Given the description of an element on the screen output the (x, y) to click on. 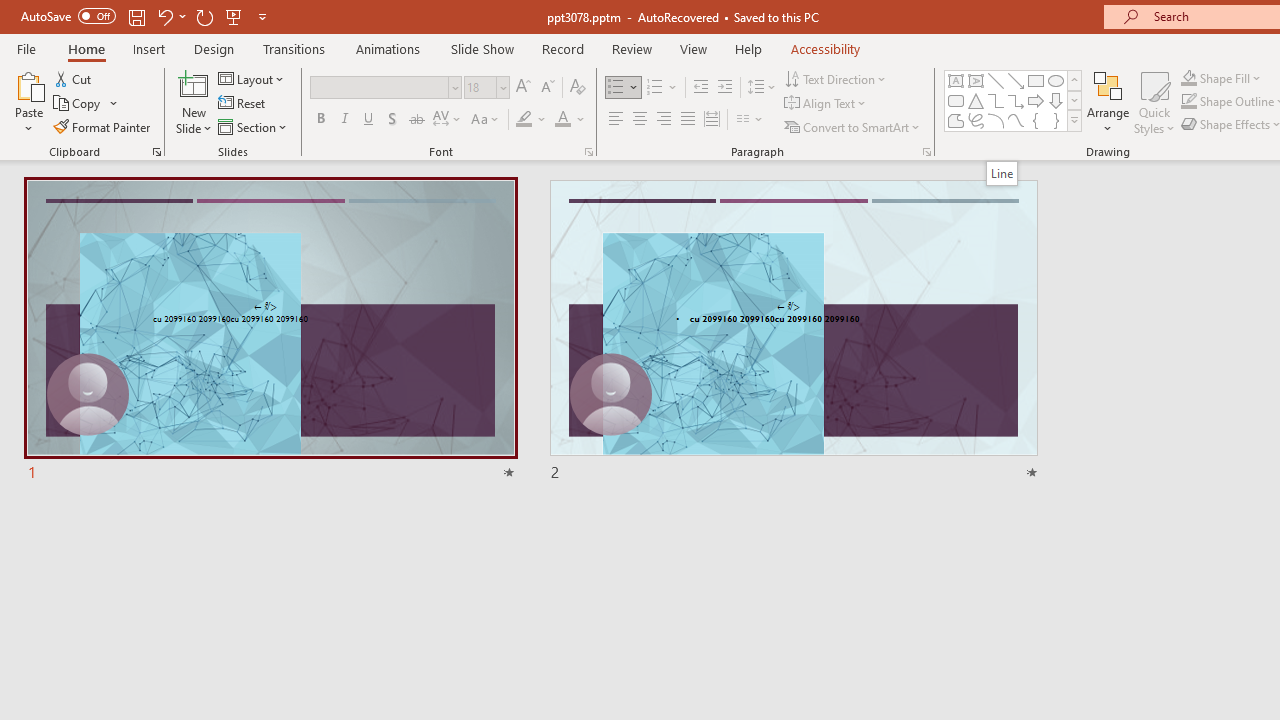
Increase Font Size (522, 87)
Line Spacing (762, 87)
Shape Fill (1221, 78)
Convert to SmartArt (853, 126)
Paragraph... (926, 151)
Shape Fill Dark Green, Accent 2 (1188, 78)
Rectangle: Rounded Corners (955, 100)
Reset (243, 103)
Arrow: Down (1055, 100)
Bold (320, 119)
